Given the description of an element on the screen output the (x, y) to click on. 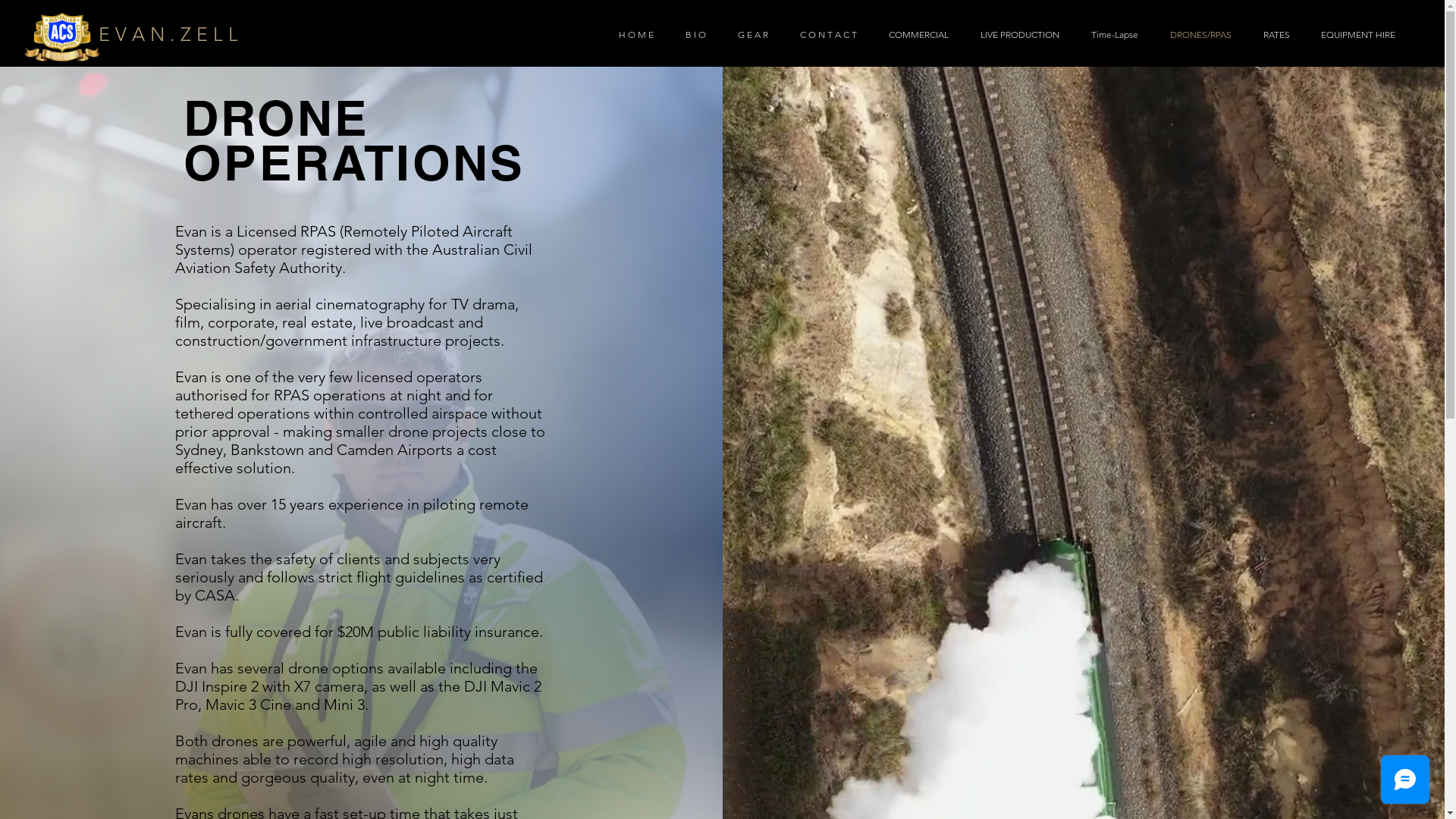
Time-Lapse Element type: text (1109, 34)
G E A R Element type: text (748, 34)
RATES Element type: text (1271, 34)
COMMERCIAL Element type: text (914, 34)
E V A N . Z E L L Element type: text (168, 34)
LIVE PRODUCTION Element type: text (1015, 34)
H O M E Element type: text (631, 34)
EQUIPMENT HIRE Element type: text (1353, 34)
C O N T A C T Element type: text (823, 34)
B I O Element type: text (691, 34)
DRONES/RPAS Element type: text (1195, 34)
